Given the description of an element on the screen output the (x, y) to click on. 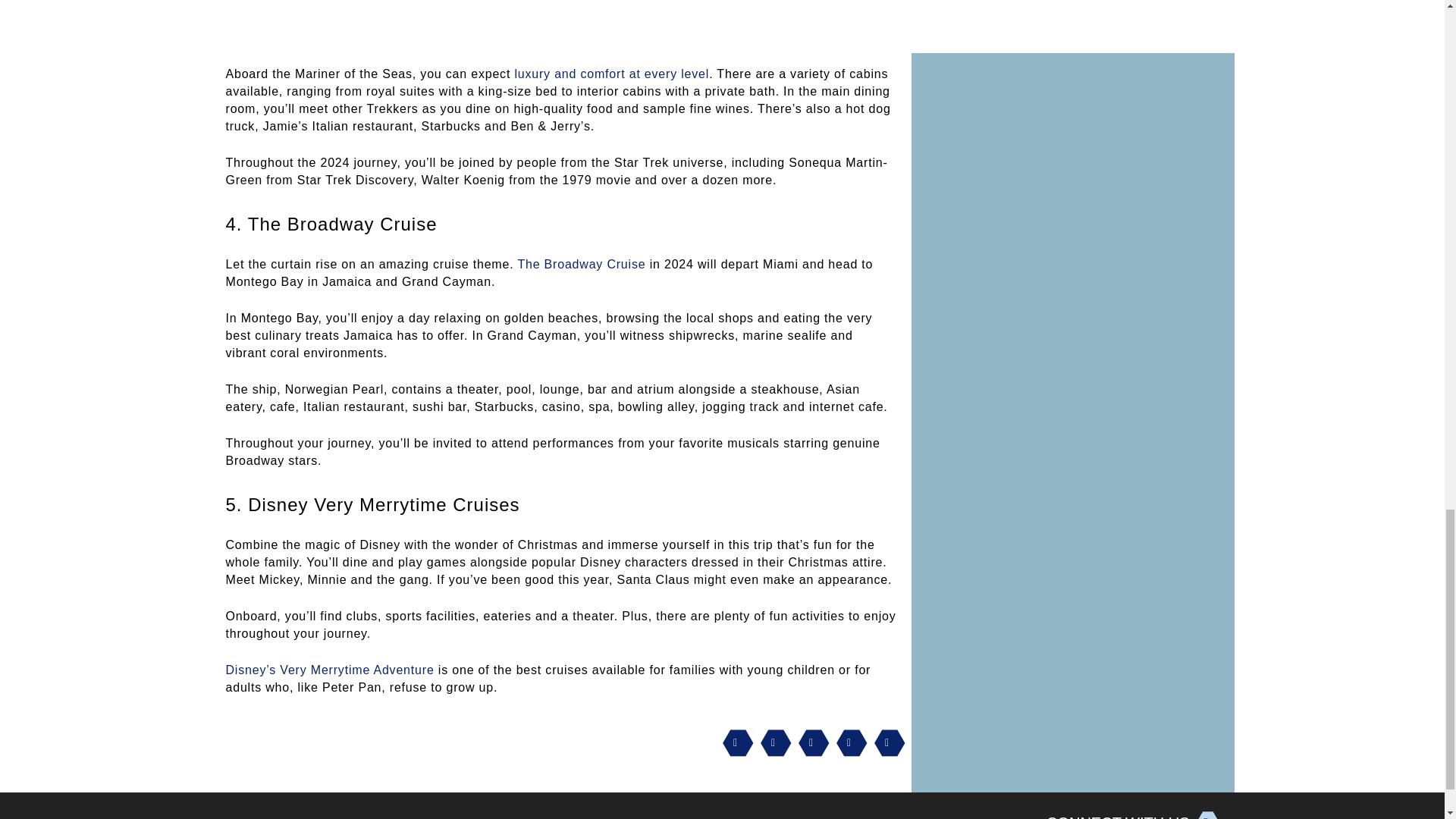
The Broadway Cruise (580, 264)
Twitter (809, 744)
Pinterest (733, 744)
Facebook (771, 744)
Bookmark (884, 744)
Email (847, 744)
luxury and comfort at every level (611, 73)
